Given the description of an element on the screen output the (x, y) to click on. 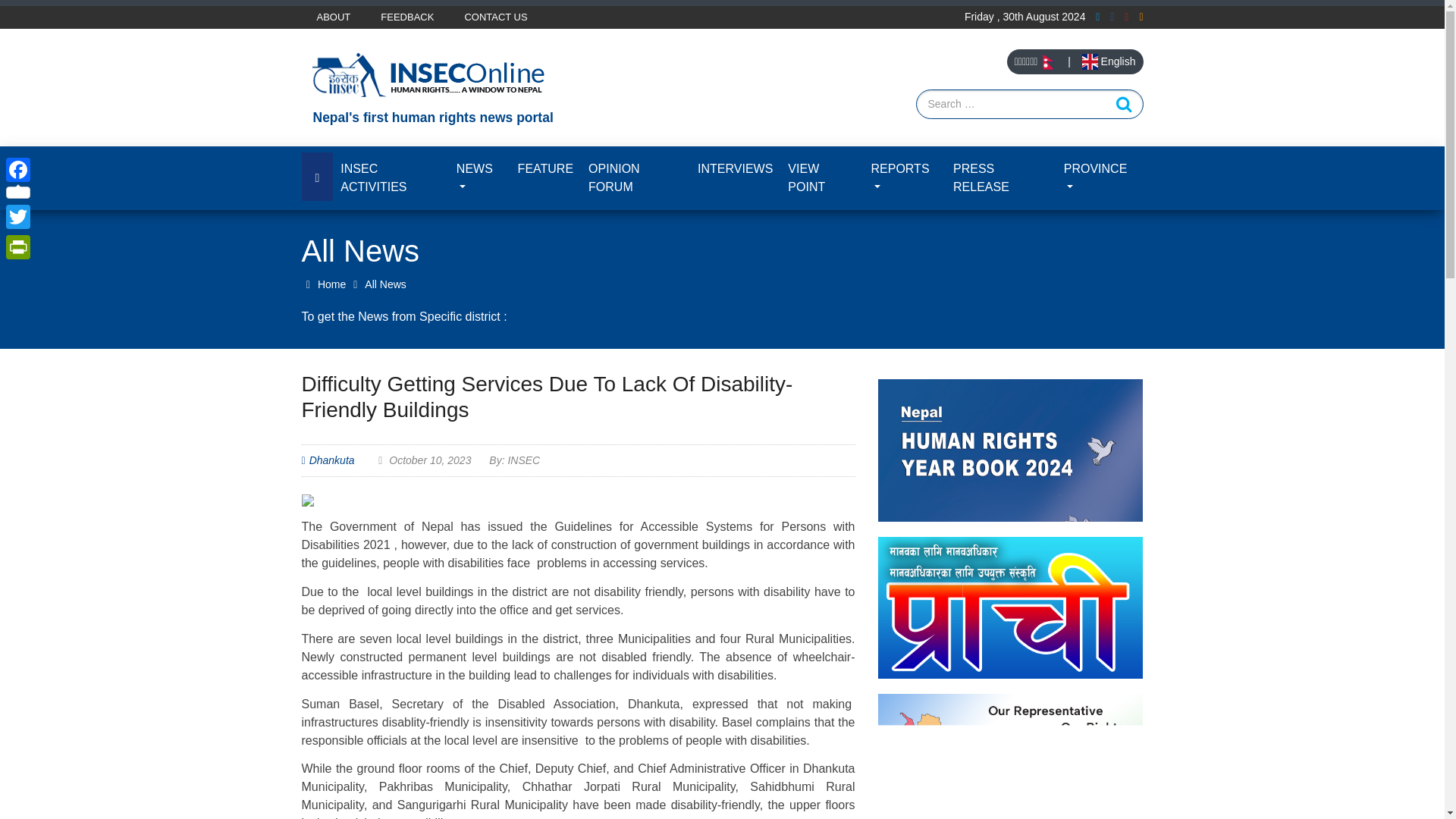
INSEC ACTIVITIES (390, 177)
Home (323, 284)
ABOUT (333, 16)
PROVINCE (1099, 177)
News (479, 177)
Insec Activities (390, 177)
Reports (903, 177)
PRESS RELEASE (1000, 177)
Search for: (1028, 103)
Dhankuta (331, 460)
